Given the description of an element on the screen output the (x, y) to click on. 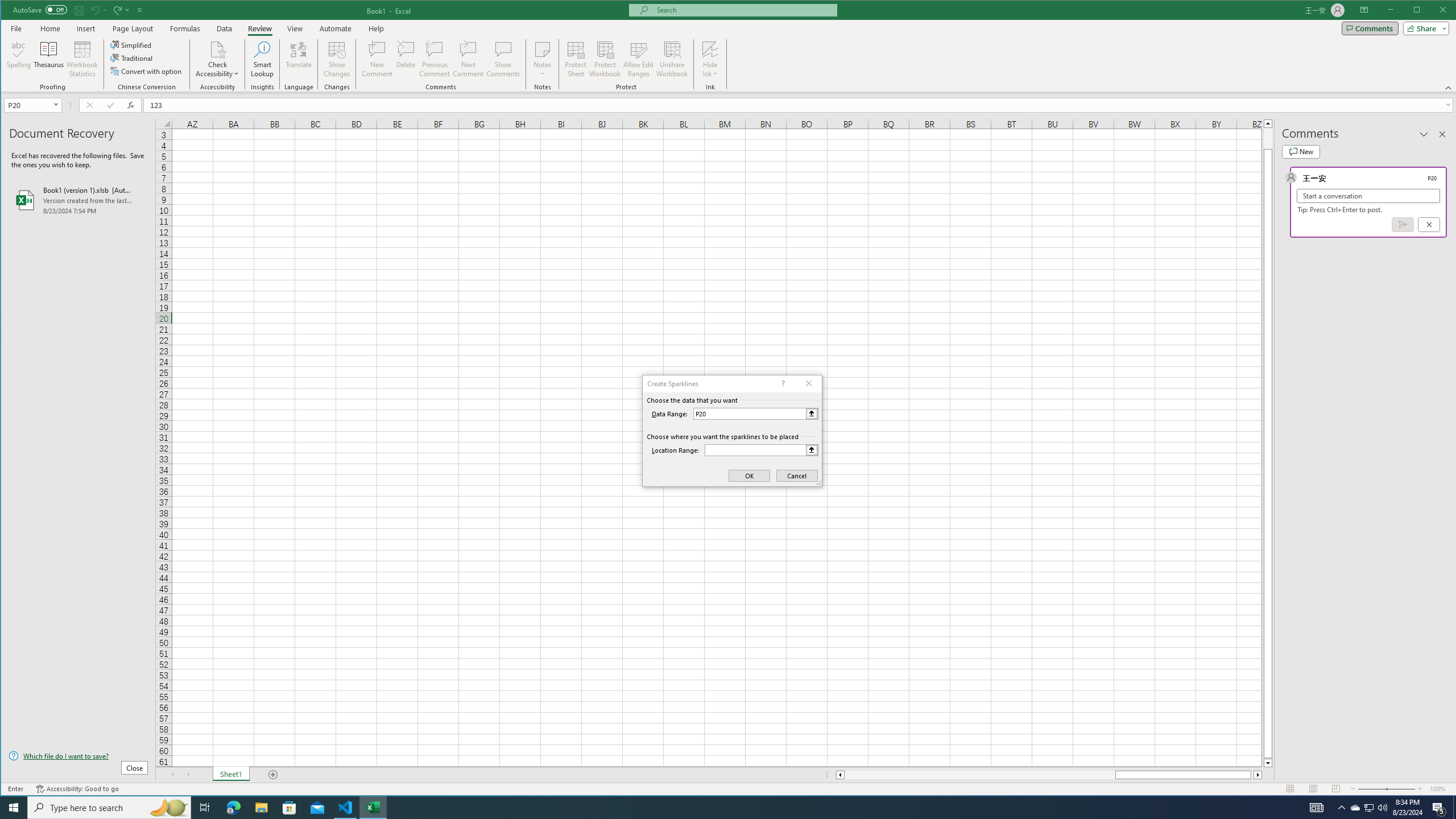
Quick Access Toolbar (79, 9)
Convert with option (146, 70)
Data (224, 28)
Cancel (1428, 224)
Show Changes (335, 59)
Unshare Workbook (671, 59)
Workbook Statistics (82, 59)
Traditional (132, 57)
More Options (710, 69)
Close pane (1441, 133)
Simplified (132, 44)
Book1 (version 1).xlsb  [AutoRecovered] (78, 199)
Page Break Preview (1335, 788)
Undo (98, 9)
Add Sheet (272, 774)
